Given the description of an element on the screen output the (x, y) to click on. 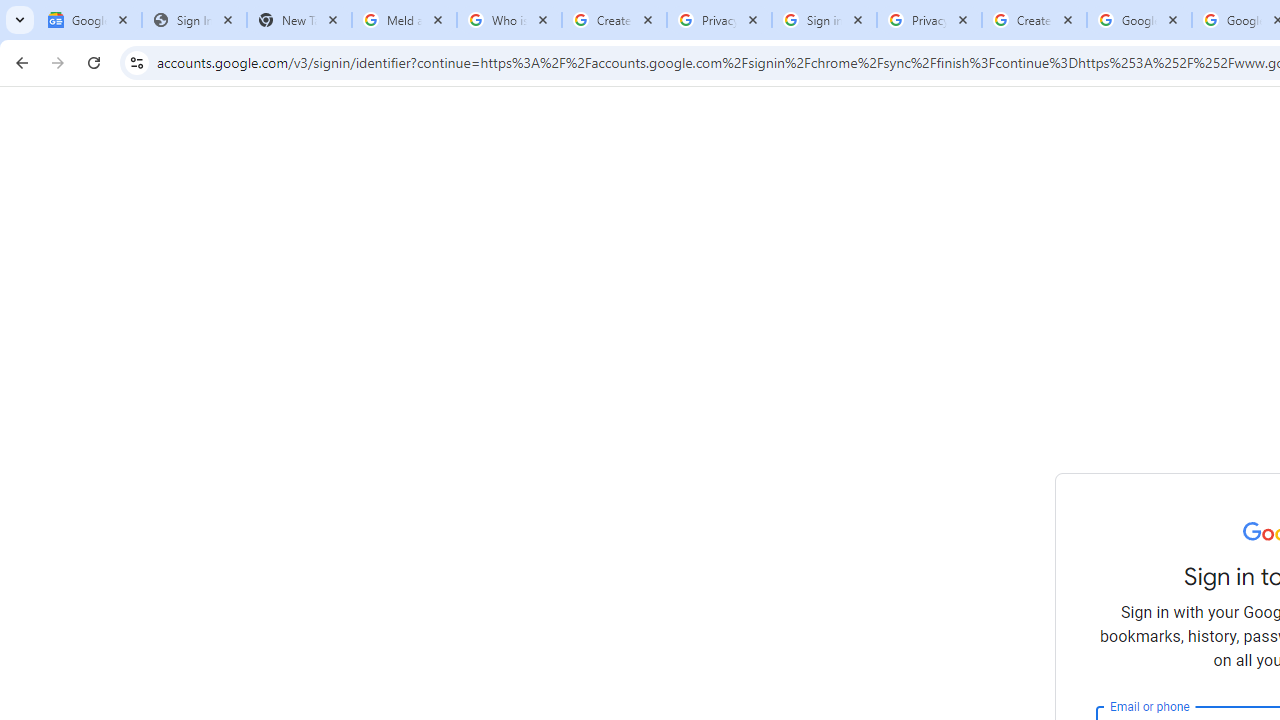
Google News (89, 20)
